Given the description of an element on the screen output the (x, y) to click on. 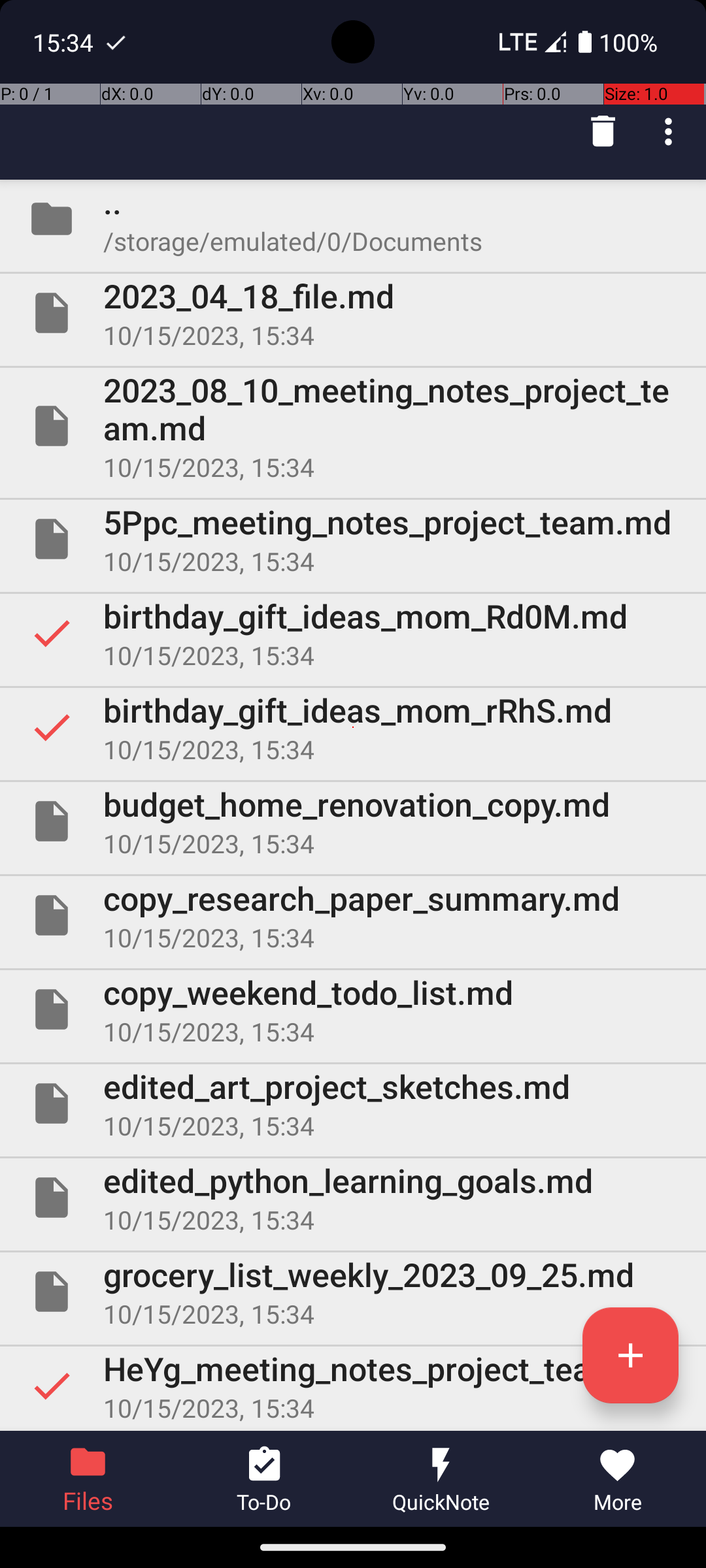
File 2023_04_18_file.md  Element type: android.widget.LinearLayout (353, 312)
File 2023_08_10_meeting_notes_project_team.md  Element type: android.widget.LinearLayout (353, 425)
File 5Ppc_meeting_notes_project_team.md  Element type: android.widget.LinearLayout (353, 538)
Selected birthday_gift_ideas_mom_Rd0M.md 10/15/2023, 15:34 Element type: android.widget.LinearLayout (353, 632)
Selected birthday_gift_ideas_mom_rRhS.md 10/15/2023, 15:34 Element type: android.widget.LinearLayout (353, 726)
File budget_home_renovation_copy.md  Element type: android.widget.LinearLayout (353, 821)
File copy_research_paper_summary.md  Element type: android.widget.LinearLayout (353, 915)
File copy_weekend_todo_list.md  Element type: android.widget.LinearLayout (353, 1009)
File edited_art_project_sketches.md  Element type: android.widget.LinearLayout (353, 1103)
File edited_python_learning_goals.md  Element type: android.widget.LinearLayout (353, 1197)
File grocery_list_weekly_2023_09_25.md  Element type: android.widget.LinearLayout (353, 1291)
Selected HeYg_meeting_notes_project_team.md  Element type: android.widget.LinearLayout (353, 1385)
